Given the description of an element on the screen output the (x, y) to click on. 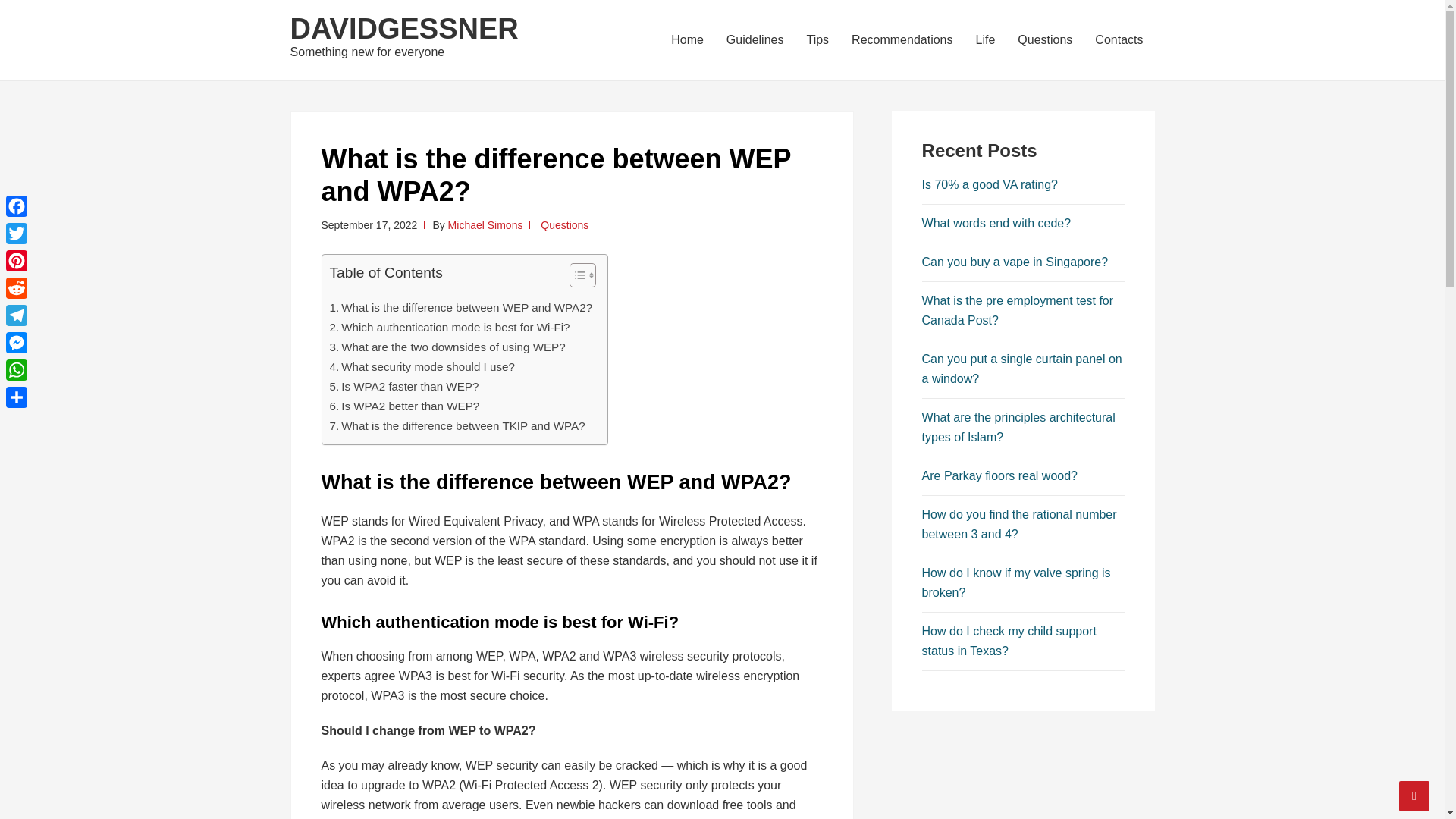
How do you find the rational number between 3 and 4? (1018, 523)
Is WPA2 better than WEP? (404, 406)
Is WPA2 faster than WEP? (404, 386)
Questions (1044, 39)
What security mode should I use? (422, 366)
How do I know if my valve spring is broken? (1015, 582)
Recommendations (901, 39)
View all posts by Michael Simons (485, 224)
Home (686, 39)
Is WPA2 better than WEP? (404, 406)
